Given the description of an element on the screen output the (x, y) to click on. 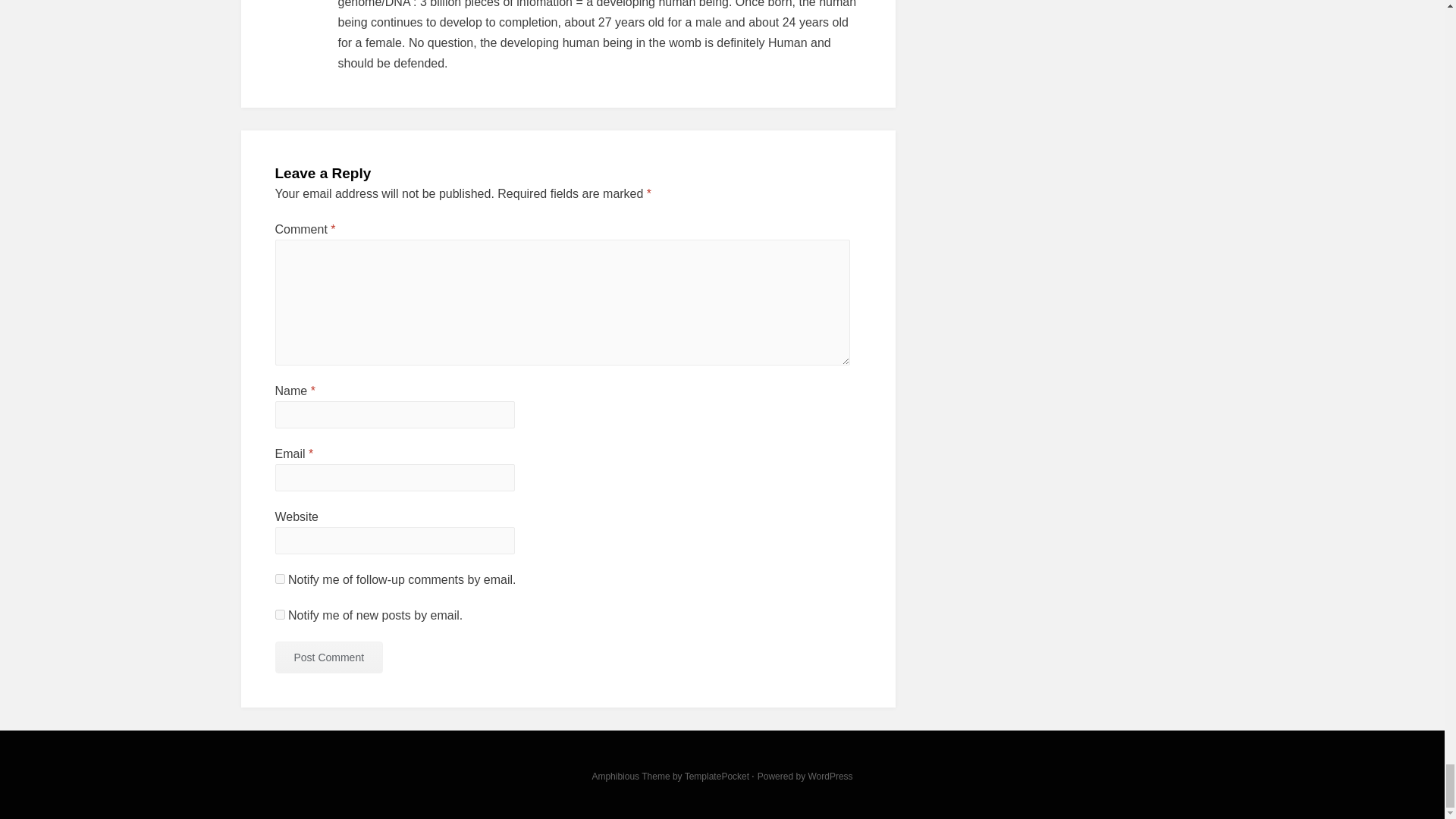
Post Comment (328, 657)
subscribe (279, 614)
subscribe (279, 578)
